Given the description of an element on the screen output the (x, y) to click on. 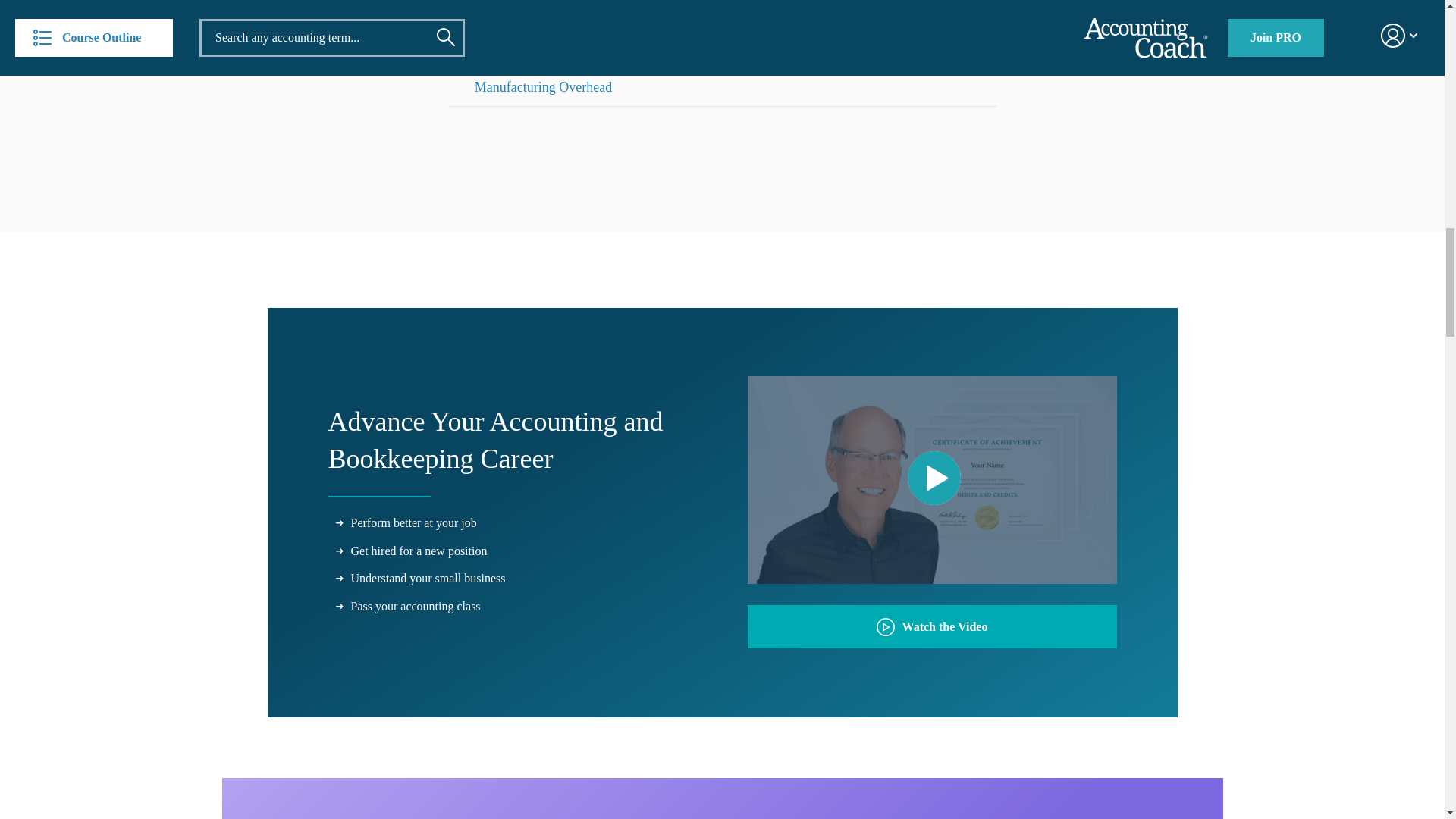
Manufacturing Overhead (542, 87)
Accounting Principles (534, 10)
Inventory and Cost of Goods Sold (568, 47)
